Given the description of an element on the screen output the (x, y) to click on. 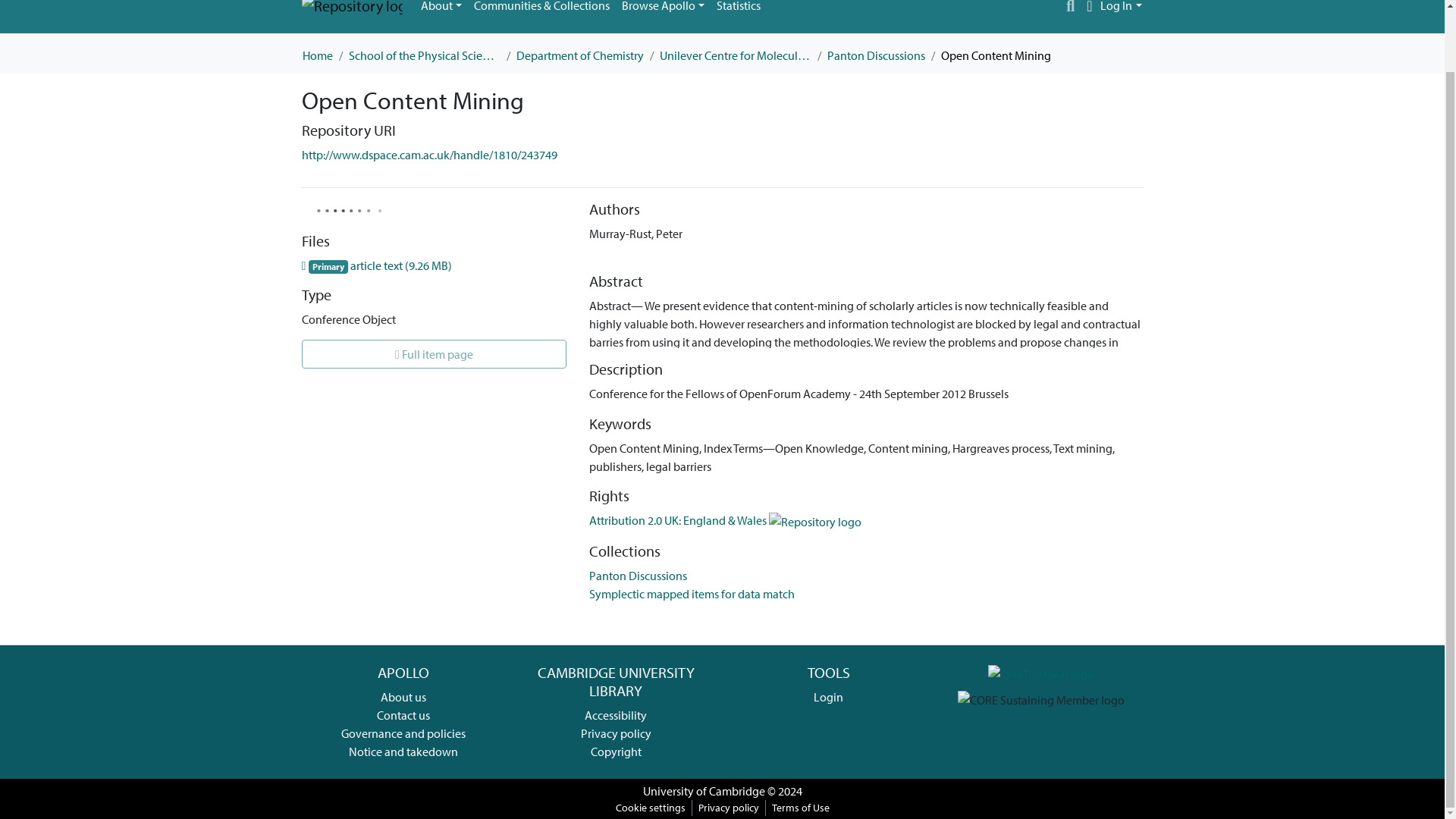
Panton Discussions (638, 575)
Governance and policies (402, 733)
Language switch (1089, 7)
Home (316, 54)
About (440, 10)
Symplectic mapped items for data match (691, 593)
Accessibility (615, 714)
Login (828, 696)
Statistics (738, 10)
Privacy policy (615, 733)
